Given the description of an element on the screen output the (x, y) to click on. 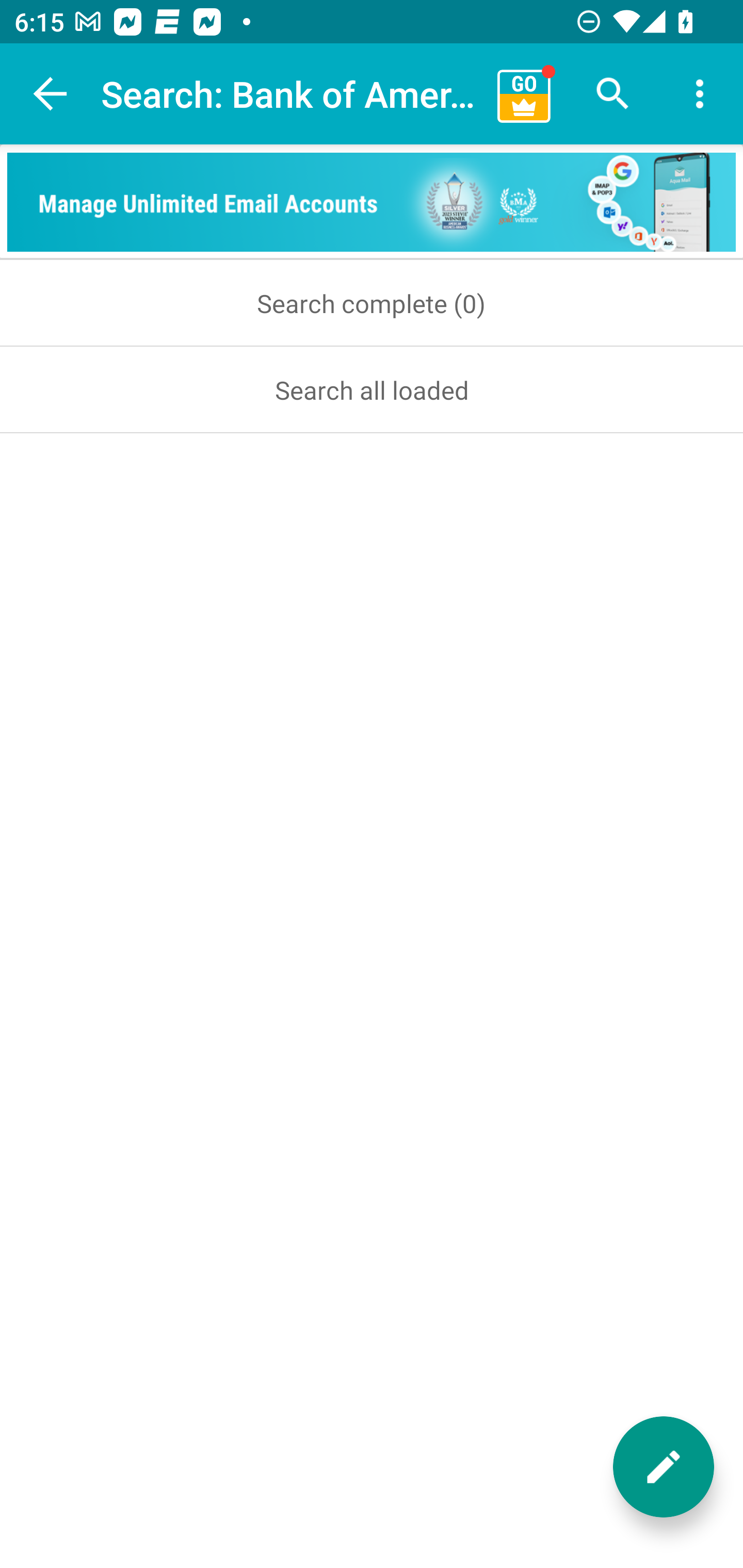
Navigate up (50, 93)
Search (612, 93)
More options (699, 93)
Search complete (0) (371, 303)
Search all loaded (371, 389)
New message (663, 1466)
